Given the description of an element on the screen output the (x, y) to click on. 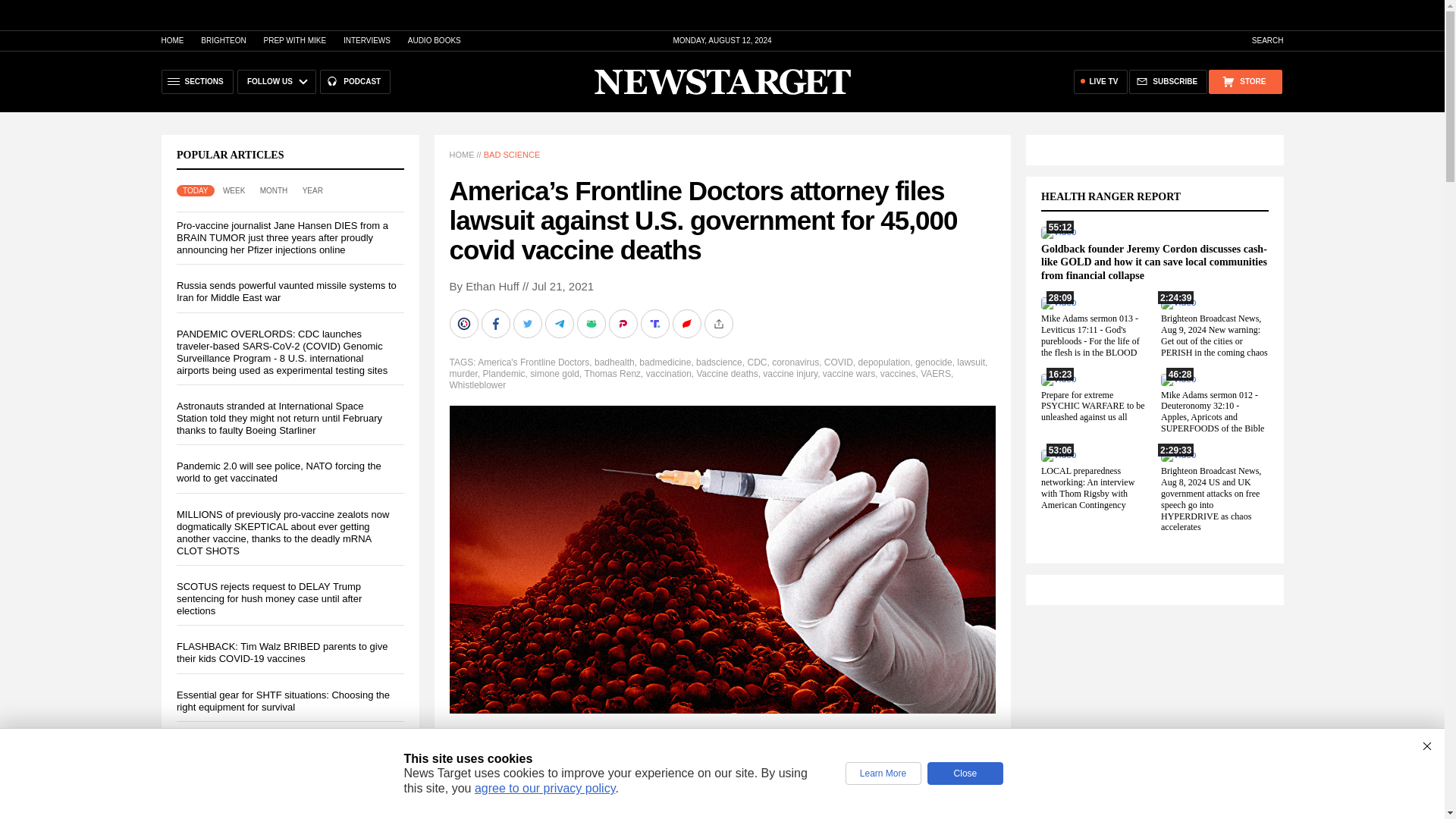
INTERVIEWS (366, 40)
SEARCH (1260, 40)
Share on Brighteon.Social (464, 323)
Share on Twitter (528, 323)
Share on GAB (592, 323)
STORE (1244, 81)
